Given the description of an element on the screen output the (x, y) to click on. 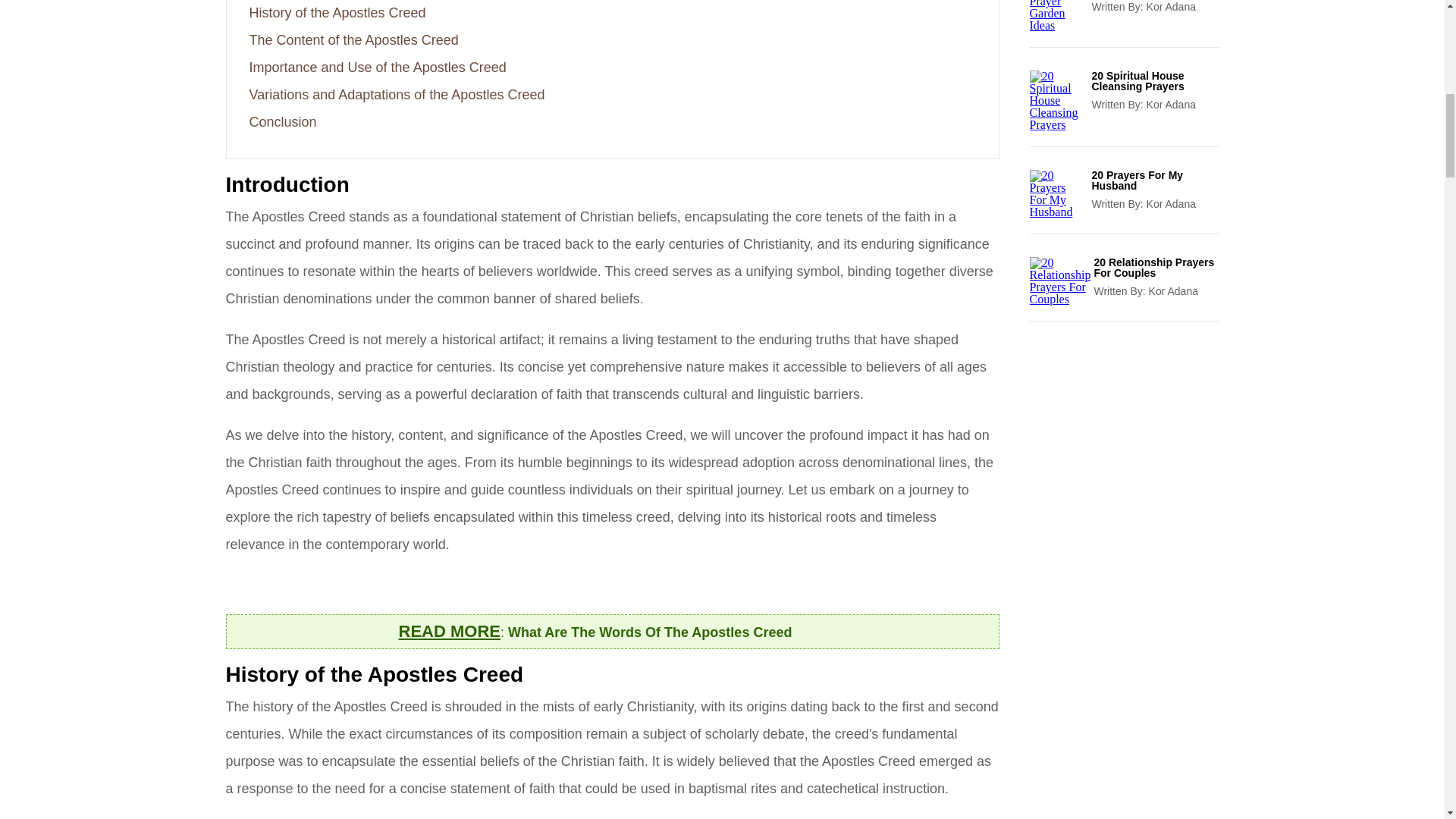
History of the Apostles Creed (336, 12)
Variations and Adaptations of the Apostles Creed (396, 94)
The Content of the Apostles Creed (353, 39)
Importance and Use of the Apostles Creed (376, 67)
